Given the description of an element on the screen output the (x, y) to click on. 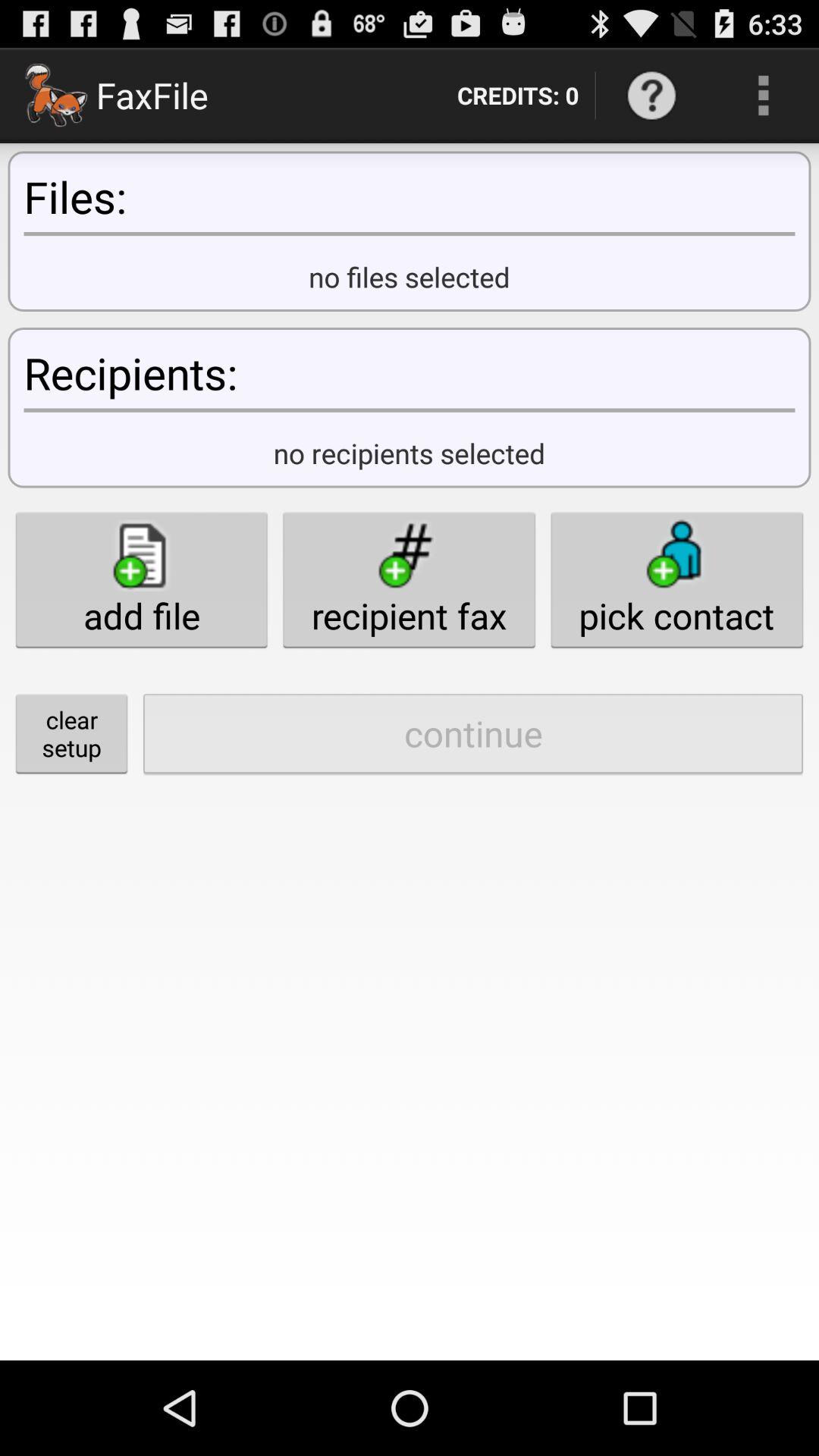
choose item to the right of credits: 0 icon (651, 95)
